Given the description of an element on the screen output the (x, y) to click on. 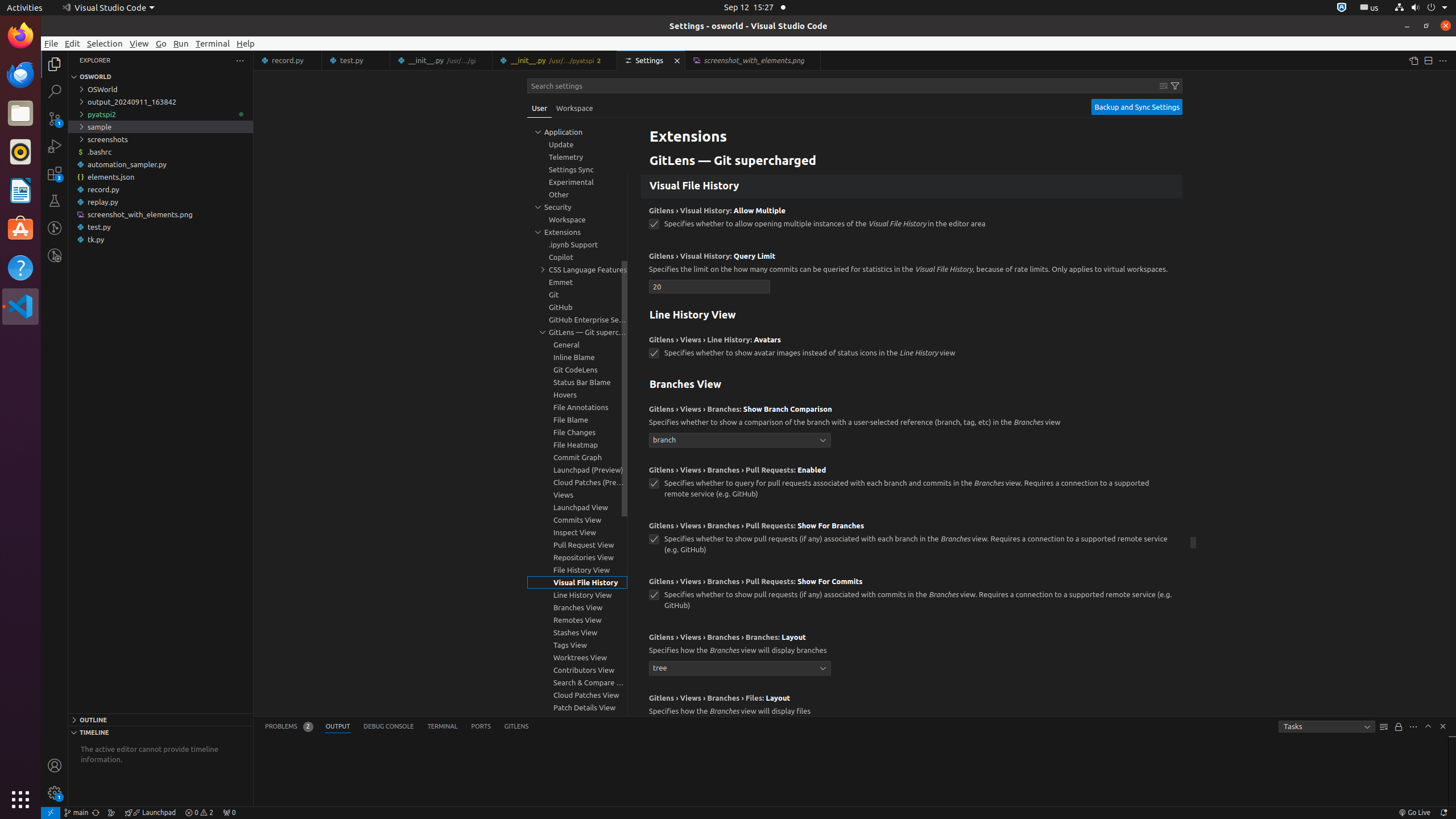
Show the GitLens Commit Graph Element type: push-button (111, 812)
GitLens Element type: page-tab (516, 726)
Gitlens › Views › Line History Avatars. Specifies whether to show avatar images instead of status icons in the Line History view  Element type: tree-item (911, 350)
GitLens — Git supercharged, group Element type: tree-item (577, 331)
